Given the description of an element on the screen output the (x, y) to click on. 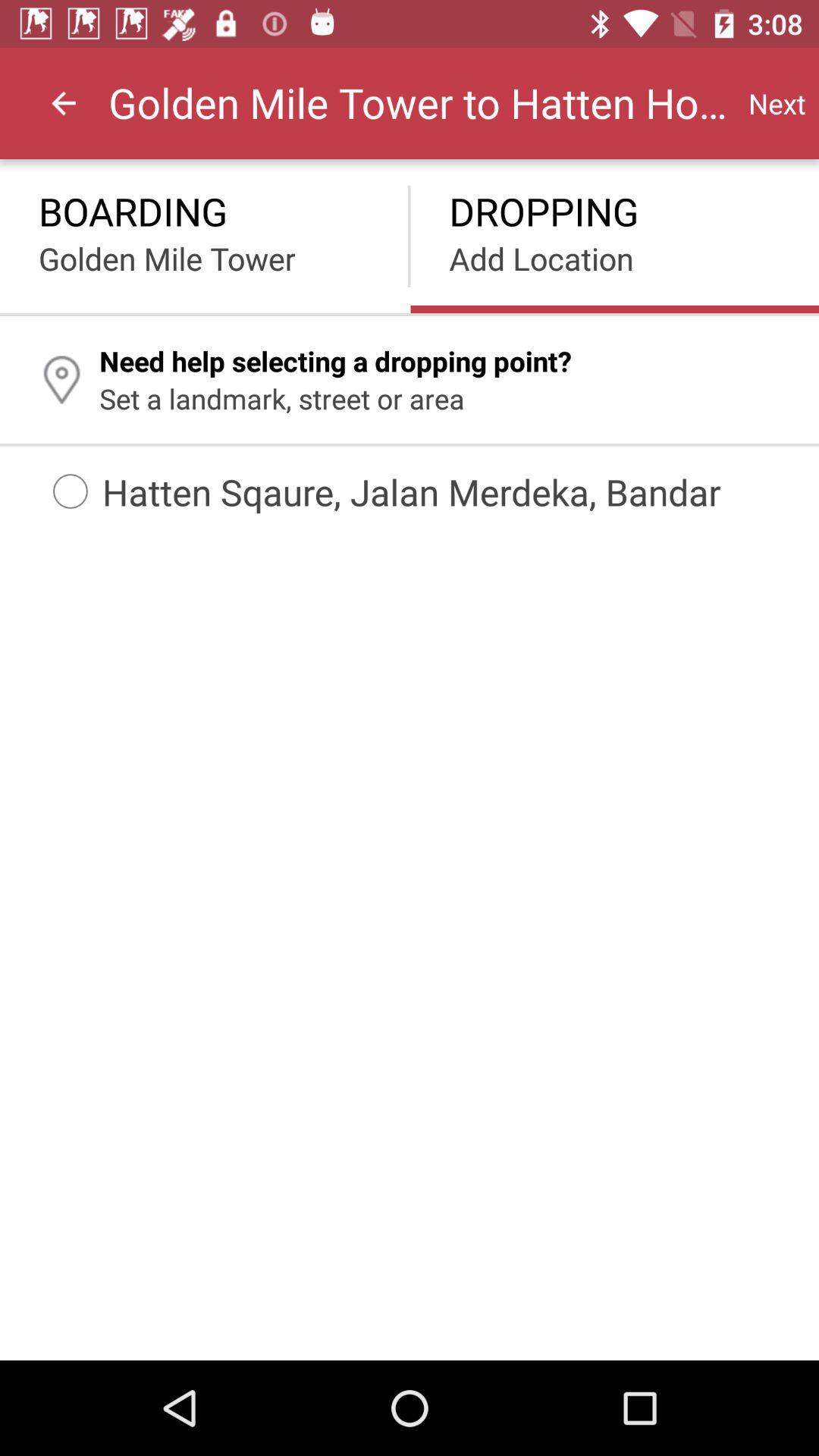
tap the item to the left of the golden mile tower icon (63, 103)
